Given the description of an element on the screen output the (x, y) to click on. 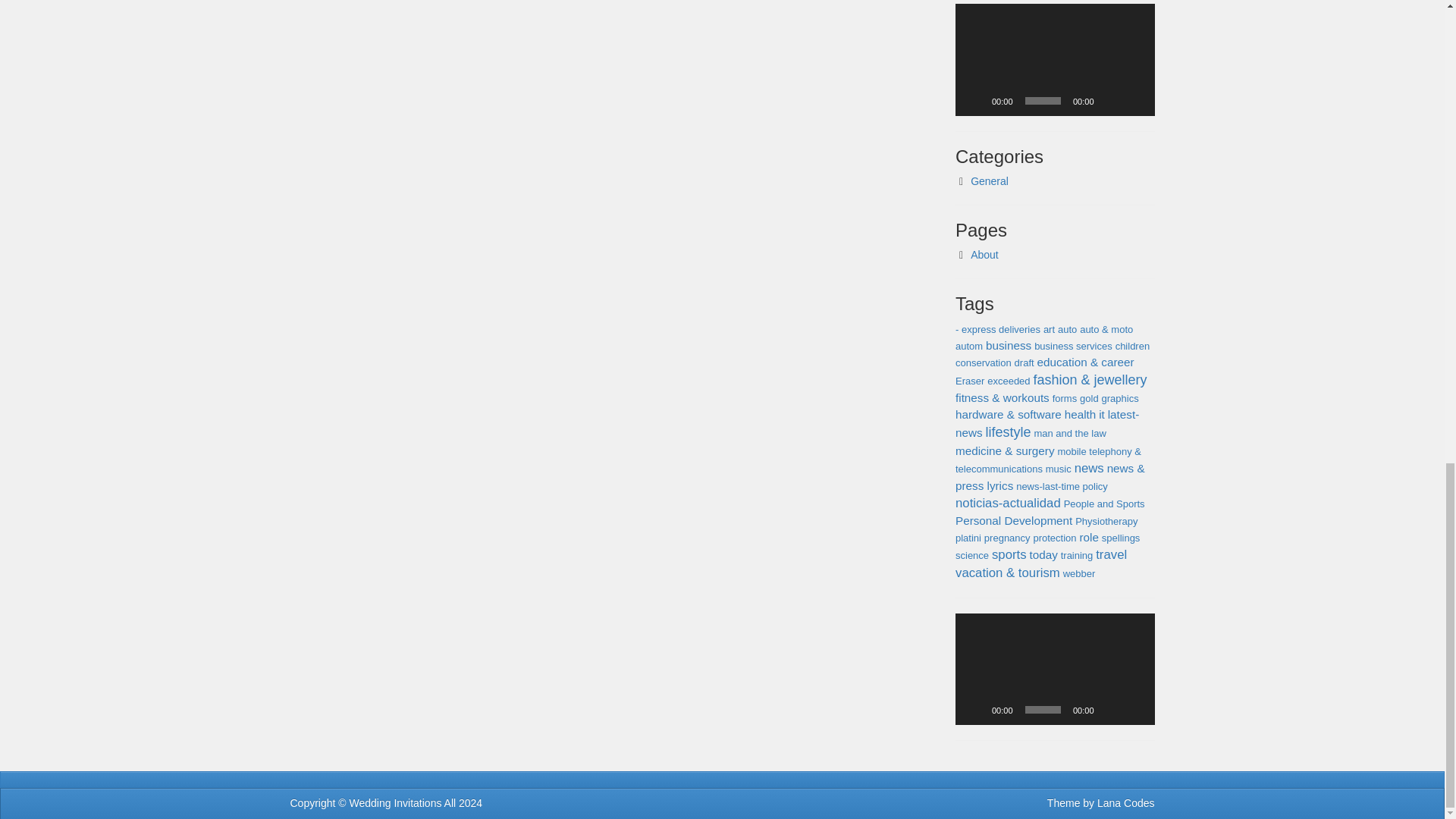
Fullscreen (1133, 100)
Mute (1110, 100)
Play (975, 100)
Mute (1110, 709)
Fullscreen (1133, 709)
Play (975, 709)
